Given the description of an element on the screen output the (x, y) to click on. 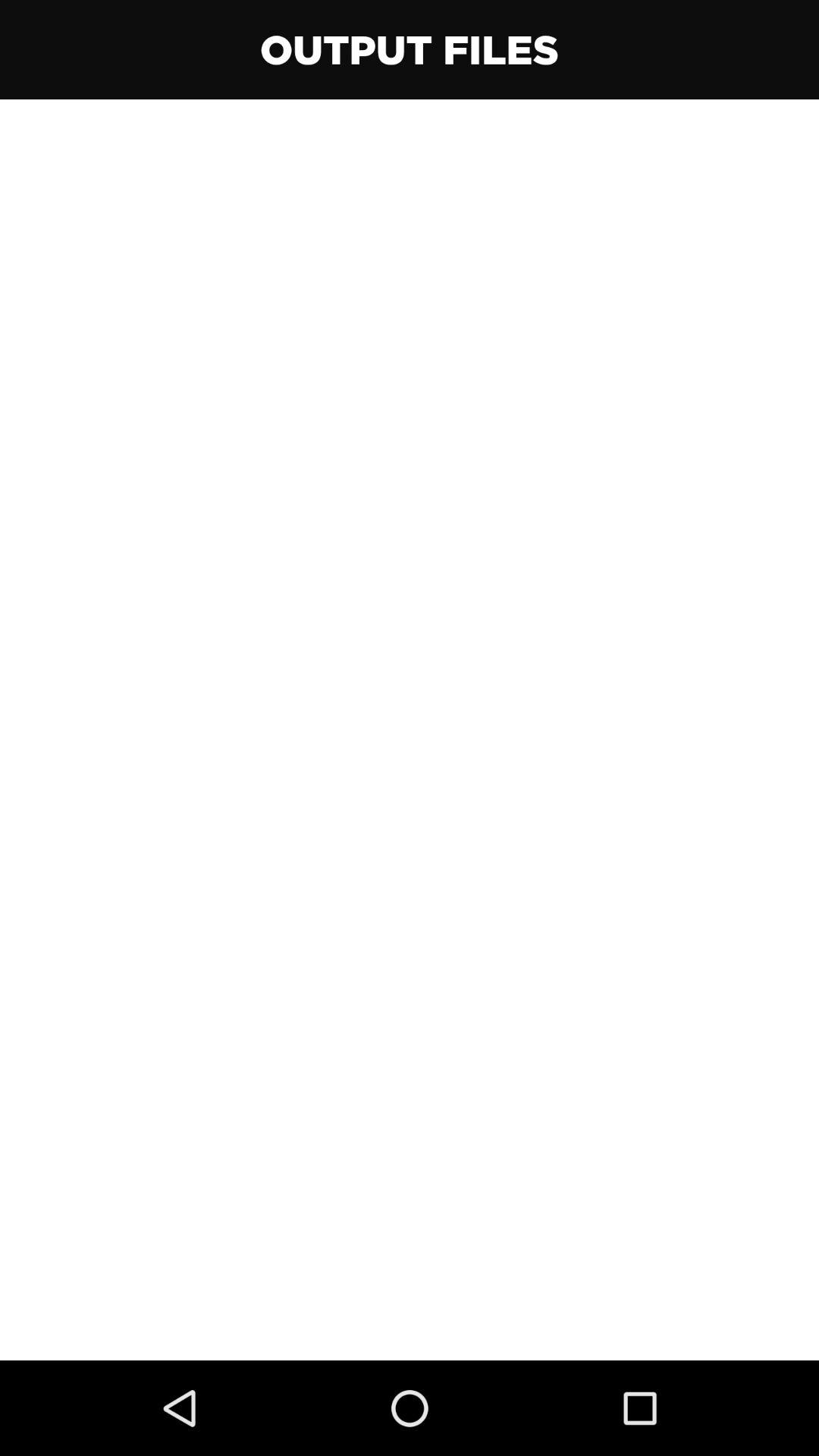
select icon below the output files icon (409, 729)
